Given the description of an element on the screen output the (x, y) to click on. 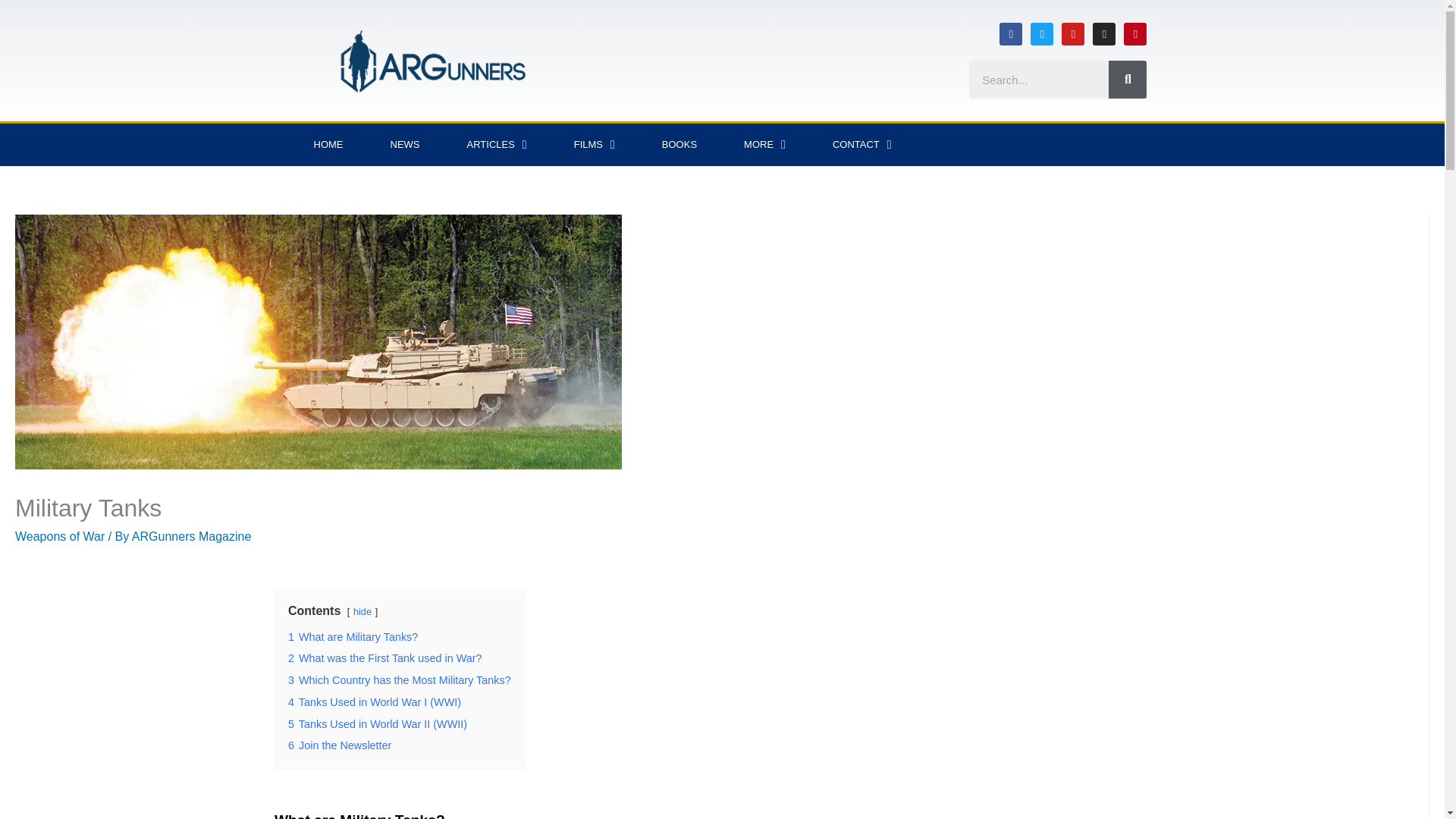
HOME (327, 144)
NEWS (405, 144)
CONTACT (862, 144)
ARTICLES (496, 144)
Search (1127, 79)
MORE (764, 144)
FILMS (594, 144)
BOOKS (679, 144)
View all posts by ARGunners Magazine (191, 535)
Search (1038, 79)
